Given the description of an element on the screen output the (x, y) to click on. 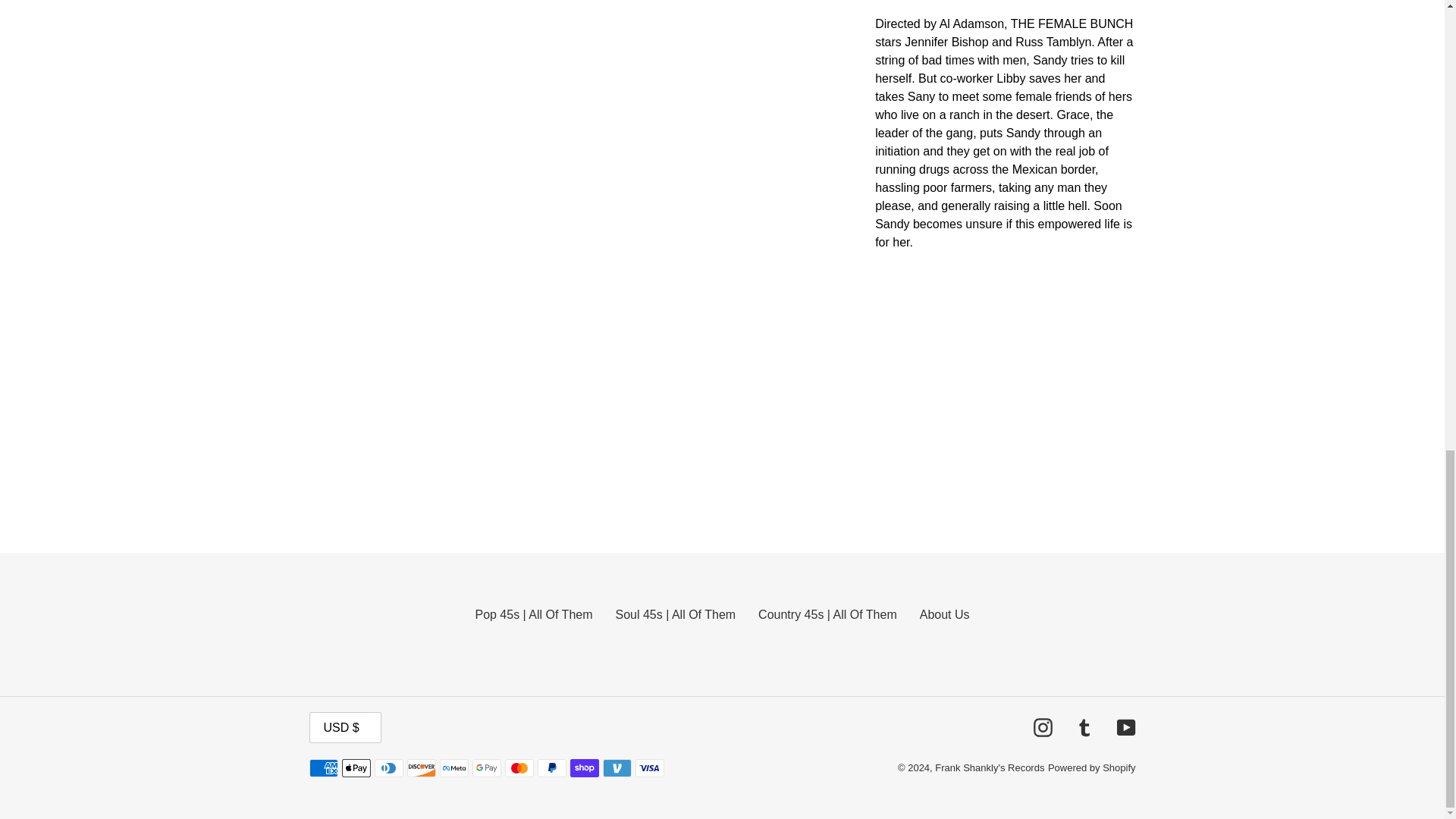
YouTube video player (1087, 386)
